Given the description of an element on the screen output the (x, y) to click on. 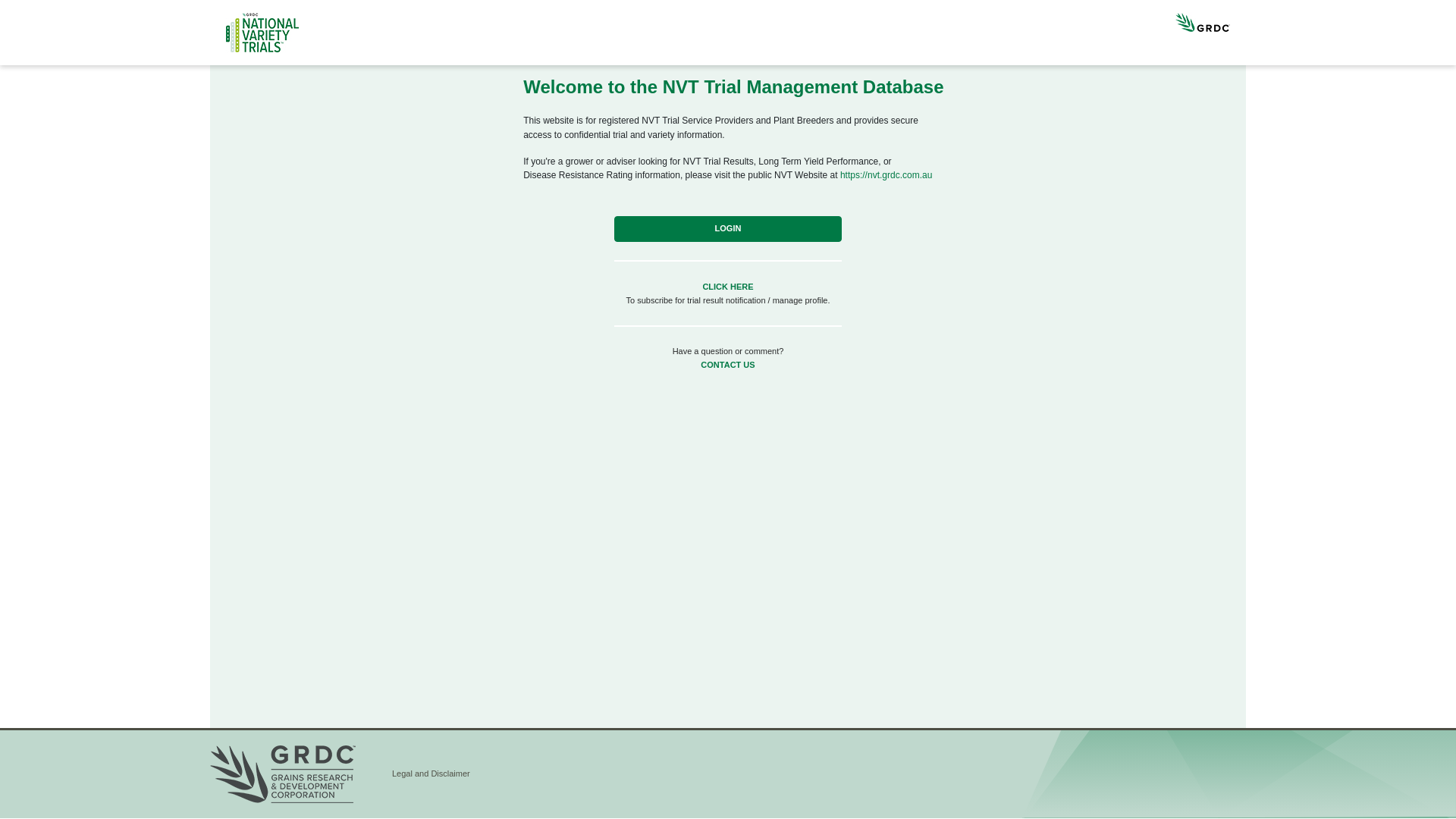
CONTACT US Element type: text (727, 364)
CLICK HERE Element type: text (727, 286)
https://nvt.grdc.com.au Element type: text (885, 174)
LOGIN Element type: text (727, 228)
Legal and Disclaimer Element type: text (431, 773)
